Given the description of an element on the screen output the (x, y) to click on. 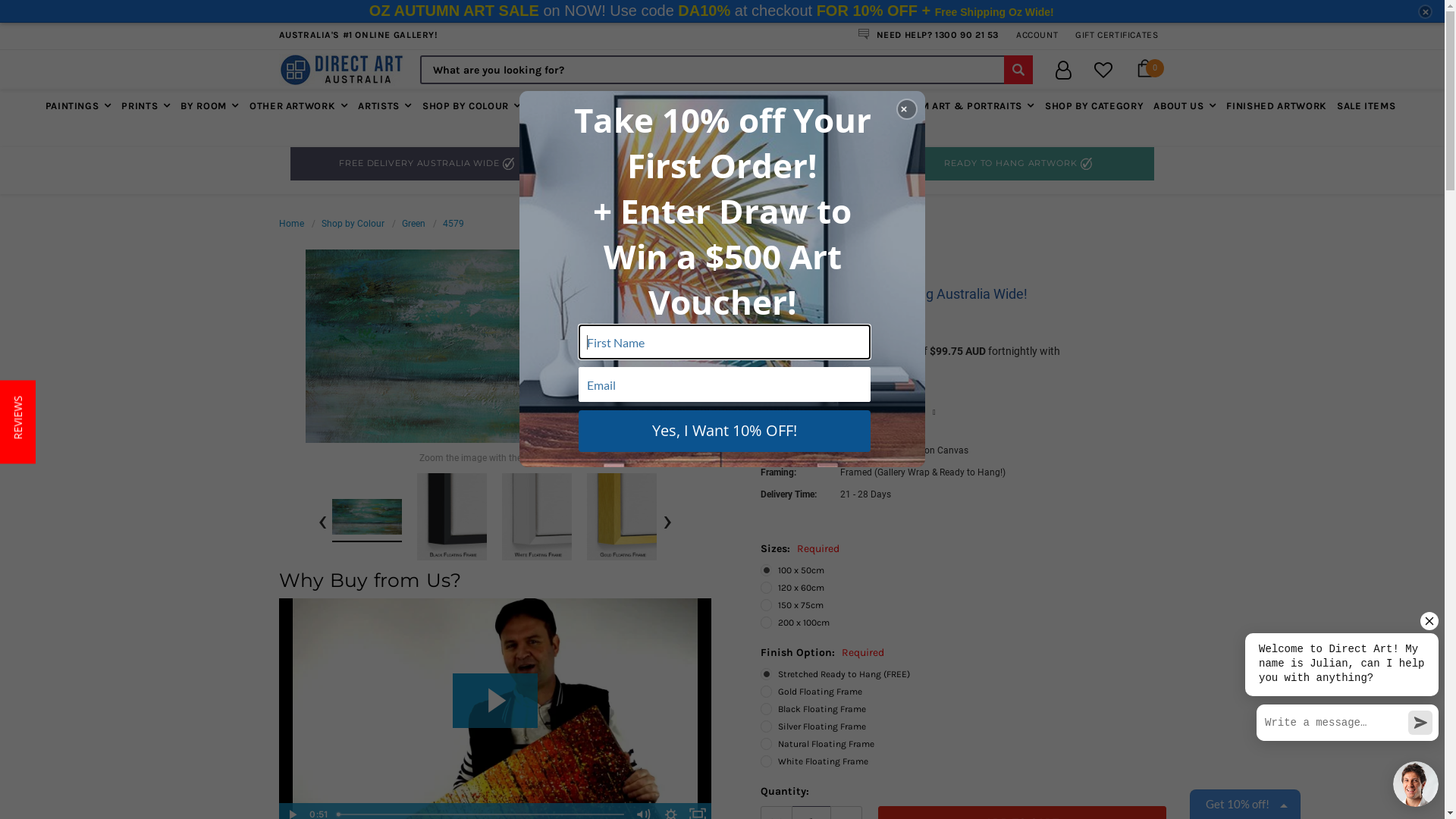
Close Element type: hover (1424, 11)
FREE DELIVERY AUSTRALIA WIDE Element type: text (425, 163)
1 Review Element type: text (847, 322)
ABOUT US Element type: text (1184, 105)
Powered by PopQuick Element type: text (260, 812)
ART FOR HOSPITALITY Element type: text (722, 130)
4579 Element type: hover (536, 516)
4579 Element type: hover (621, 516)
2023 SALE ITEMS Element type: text (826, 105)
4579 Element type: text (453, 223)
GIFT CERTIFICATES Element type: text (1116, 34)
4579 Element type: hover (366, 516)
BY ROOM Element type: text (209, 105)
Home Element type: text (291, 223)
4579 Element type: hover (494, 345)
FINISHED ARTWORK Element type: text (1276, 105)
' Element type: hover (341, 69)
AUSTRALIAN OWNED & OPERATED Element type: text (721, 163)
SALE ITEMS Element type: text (1366, 105)
Green Element type: text (413, 223)
1300 90 21 53 Element type: text (966, 34)
ACCOUNT Element type: text (1036, 34)
PAINTINGS Element type: text (80, 105)
2023 MY HOME COLLECTION Element type: text (608, 105)
0 Element type: text (1144, 70)
Close Element type: hover (906, 109)
ARTISTS Element type: text (385, 105)
CUSTOM ART & PORTRAITS Element type: text (960, 105)
PRINTS Element type: text (145, 105)
SHOP BY CATEGORY Element type: text (1094, 105)
4579 Element type: hover (451, 516)
SHOP BY COLOUR Element type: text (471, 105)
OTHER ARTWORK Element type: text (298, 105)
READY TO HANG ARTWORK Element type: text (1017, 163)
Vincent Van Gogh | Starry Night Element type: text (170, 785)
Shop by Colour Element type: text (352, 223)
Yes, I Want 10% OFF! Element type: text (723, 430)
BEST SELLERS Element type: text (730, 105)
More info Element type: text (817, 366)
or from $10/week with Element type: text (847, 411)
